Given the description of an element on the screen output the (x, y) to click on. 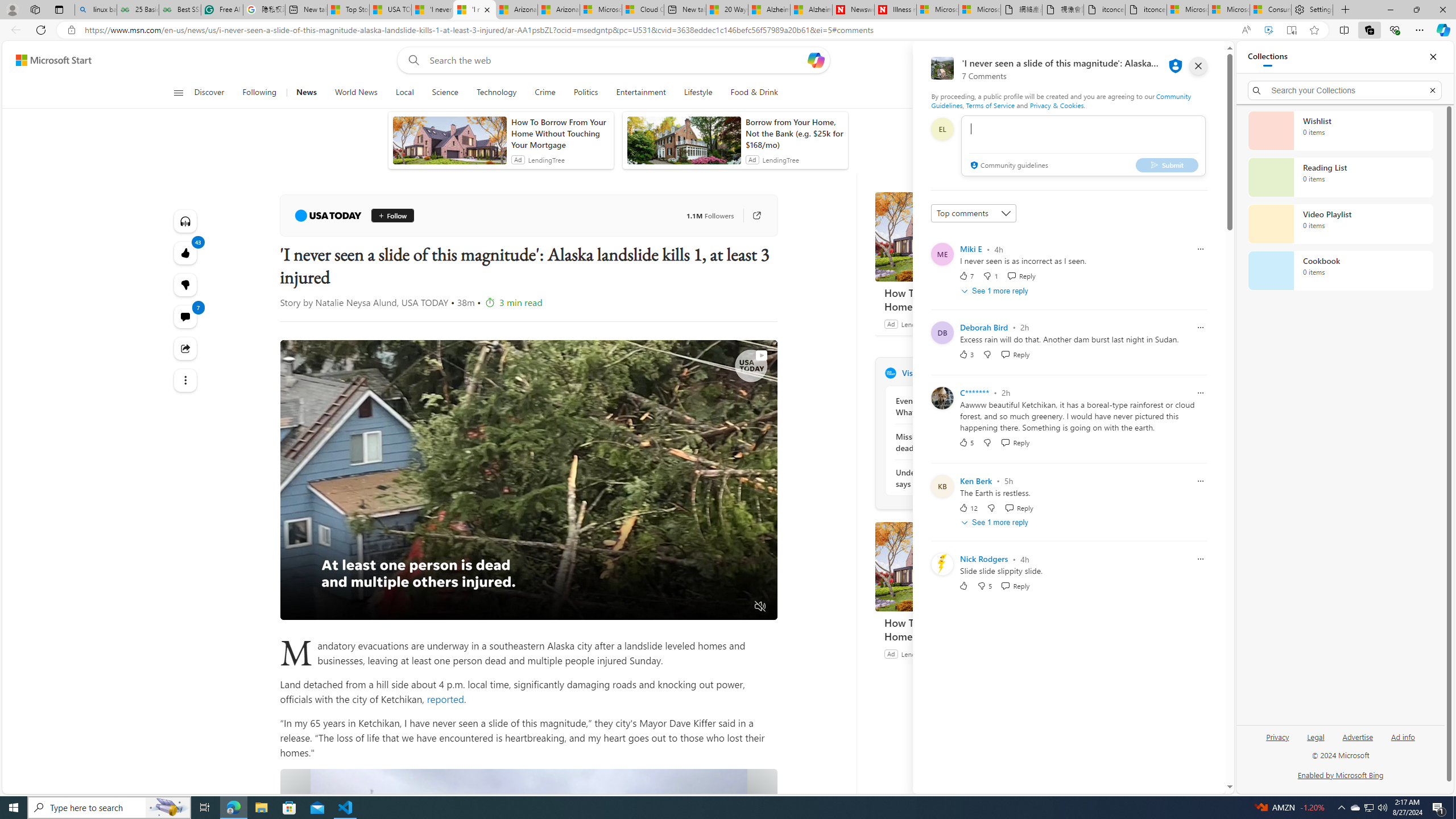
Video Playlist collection, 0 items (1339, 223)
USA TODAY - MSN (390, 9)
Borrow from Your Home, Not the Bank (e.g. $25k for $168/mo) (794, 133)
Food & Drink (753, 92)
Free AI Writing Assistance for Students | Grammarly (221, 9)
Share this story (184, 348)
